Given the description of an element on the screen output the (x, y) to click on. 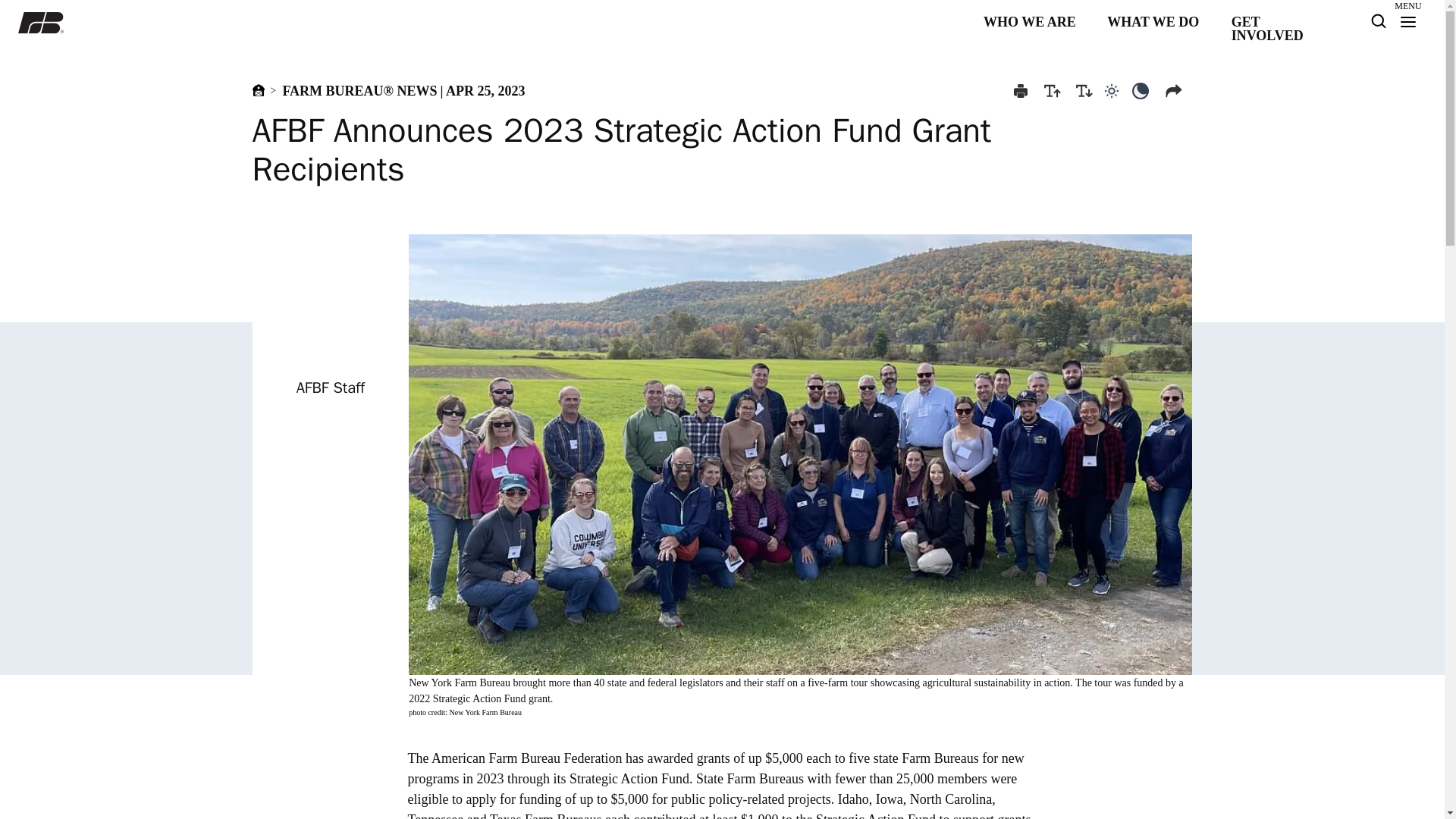
WHO WE ARE (1033, 22)
click to enable menu (1176, 90)
WHAT WE DO (1156, 22)
GET INVOLVED (1280, 22)
